Given the description of an element on the screen output the (x, y) to click on. 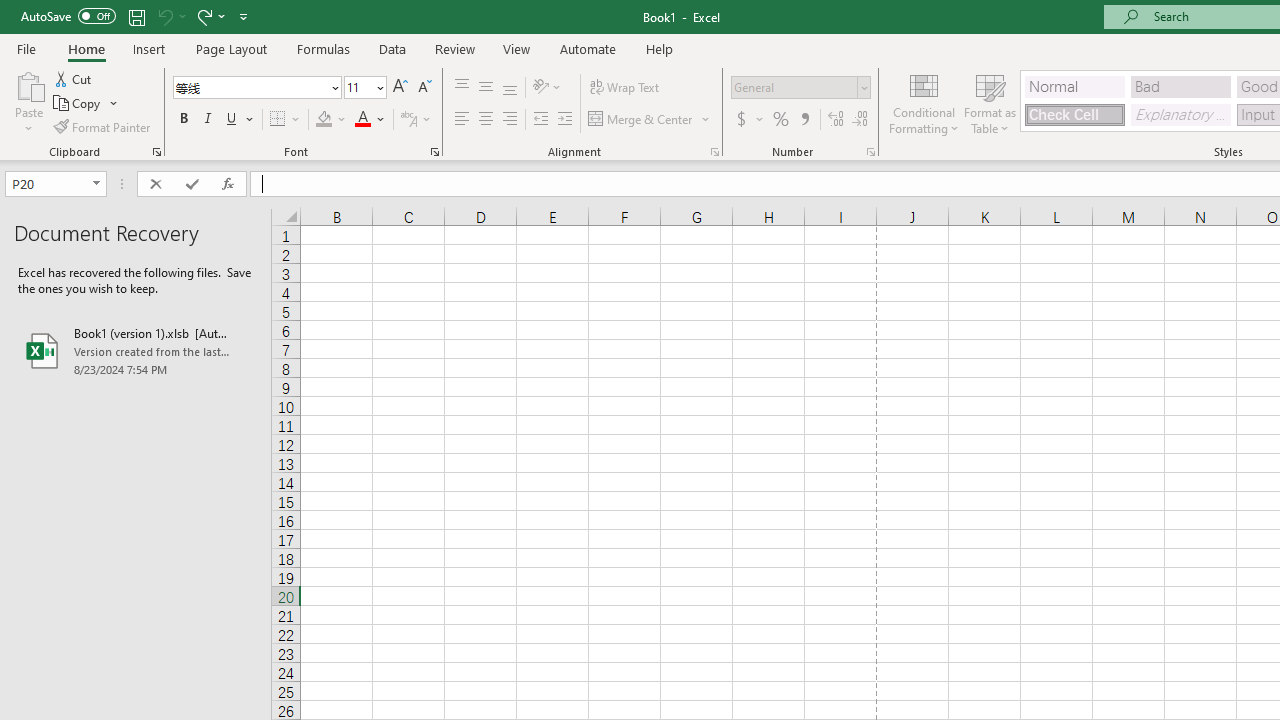
Bottom Align (509, 87)
Orientation (547, 87)
Office Clipboard... (156, 151)
Format Cell Font (434, 151)
